Given the description of an element on the screen output the (x, y) to click on. 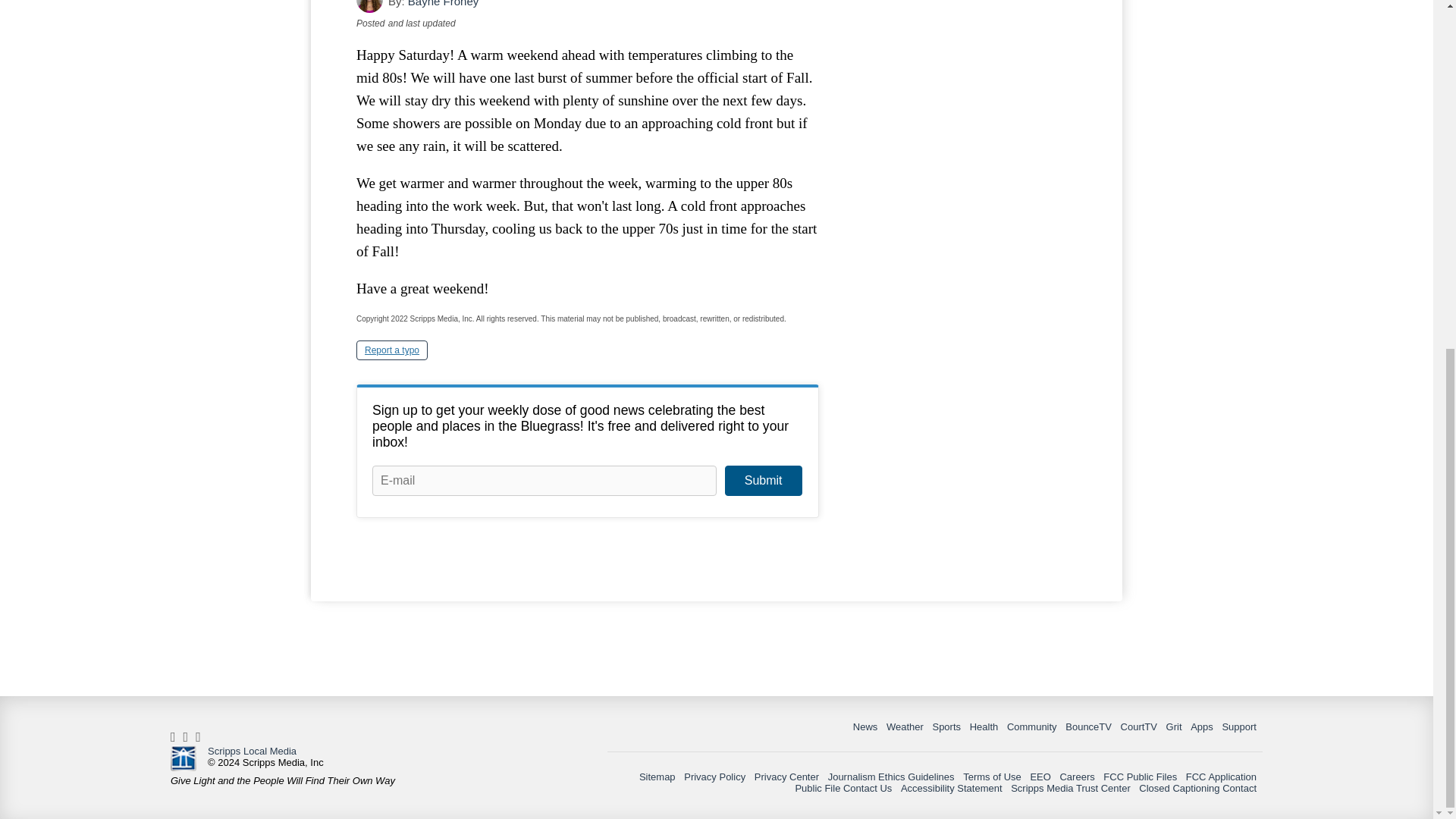
Submit (763, 481)
